Given the description of an element on the screen output the (x, y) to click on. 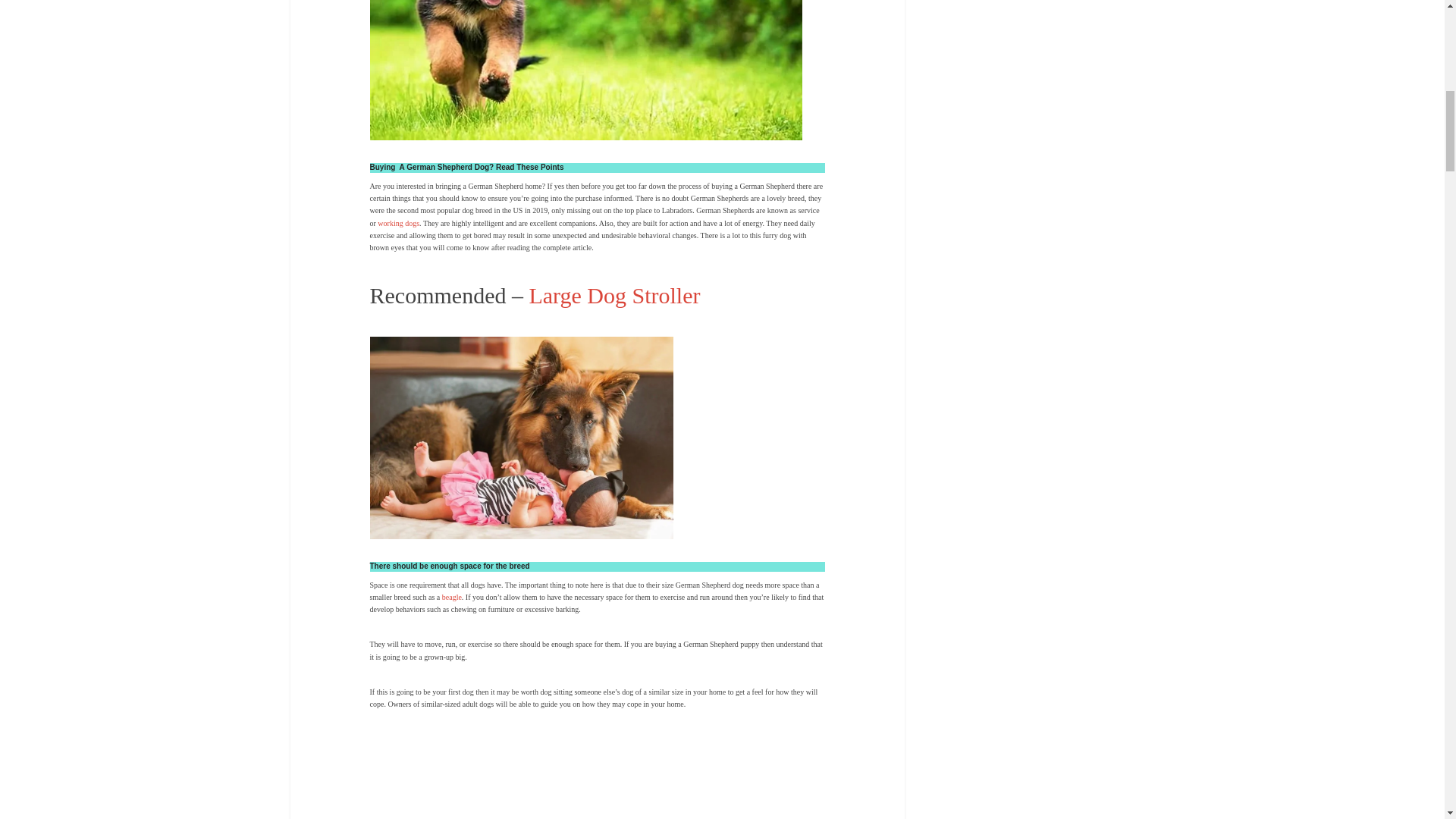
Large Dog Stroller (614, 294)
working dogs (398, 223)
beagle (451, 596)
